Given the description of an element on the screen output the (x, y) to click on. 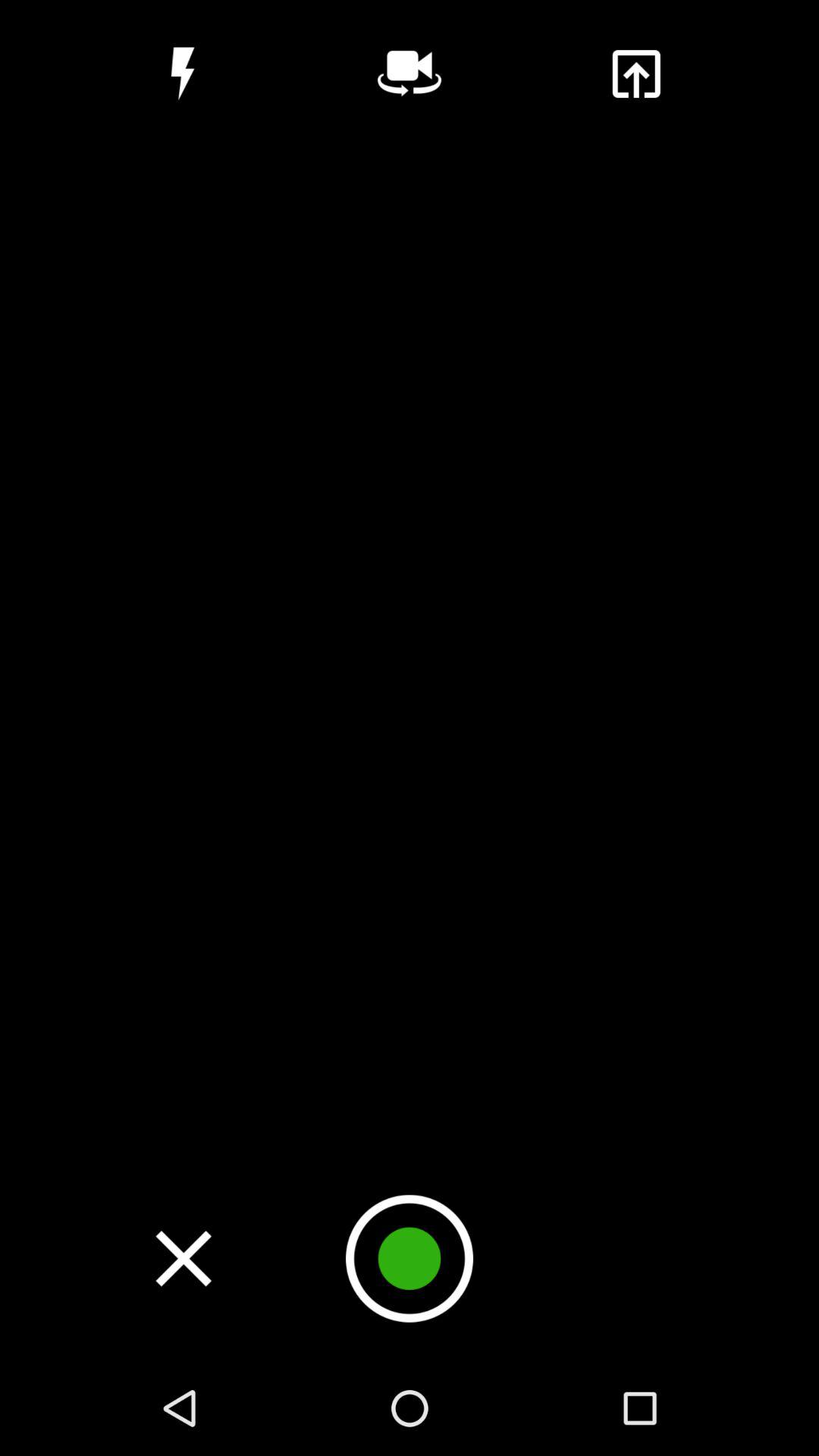
he can activate the simple voice command (409, 73)
